Given the description of an element on the screen output the (x, y) to click on. 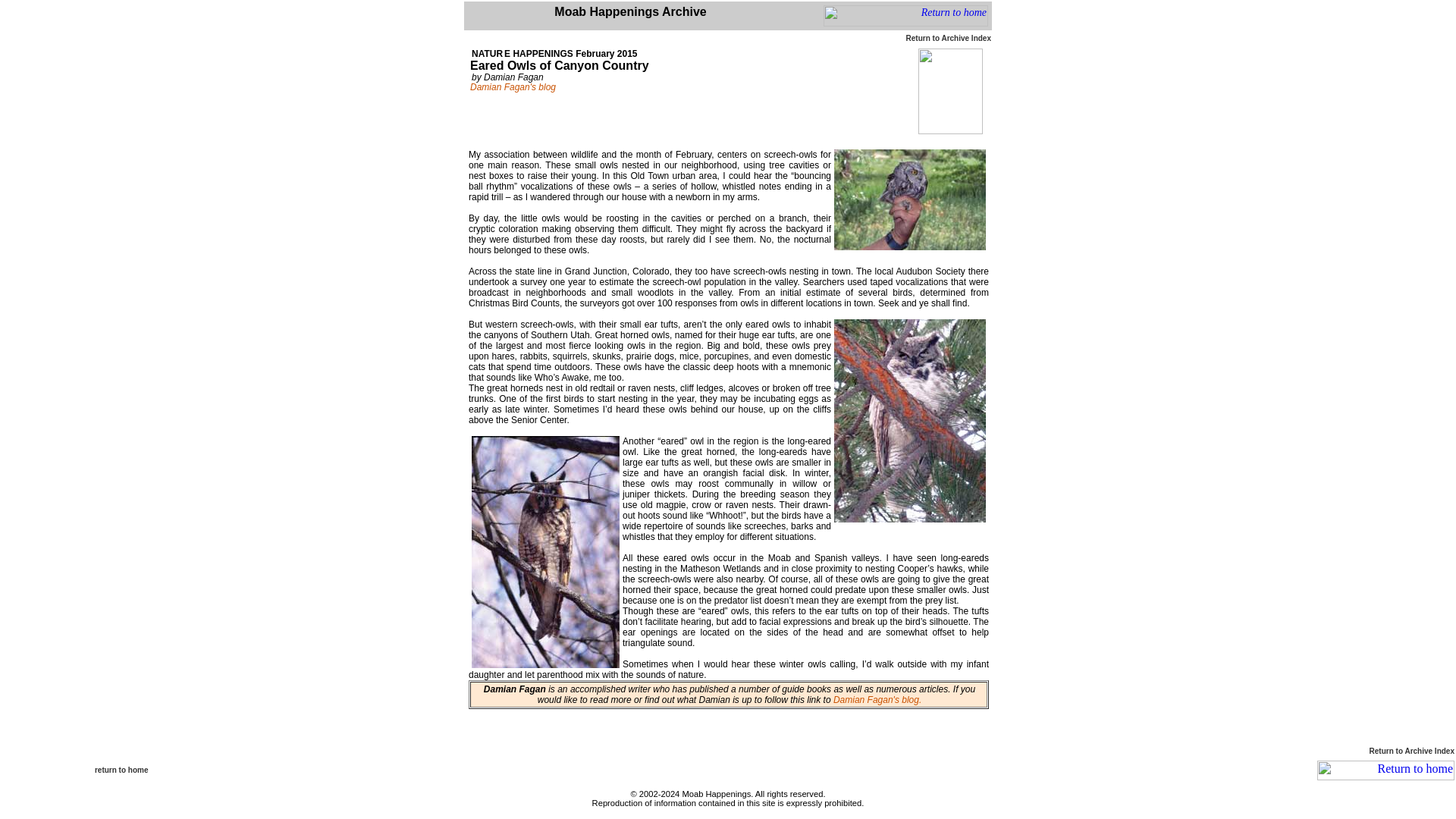
return to home (121, 769)
Damian Fagan's blog. (876, 699)
Return to Archive Index (1412, 750)
Return to Archive Index (948, 38)
Damian Fagan's blog (513, 86)
